Given the description of an element on the screen output the (x, y) to click on. 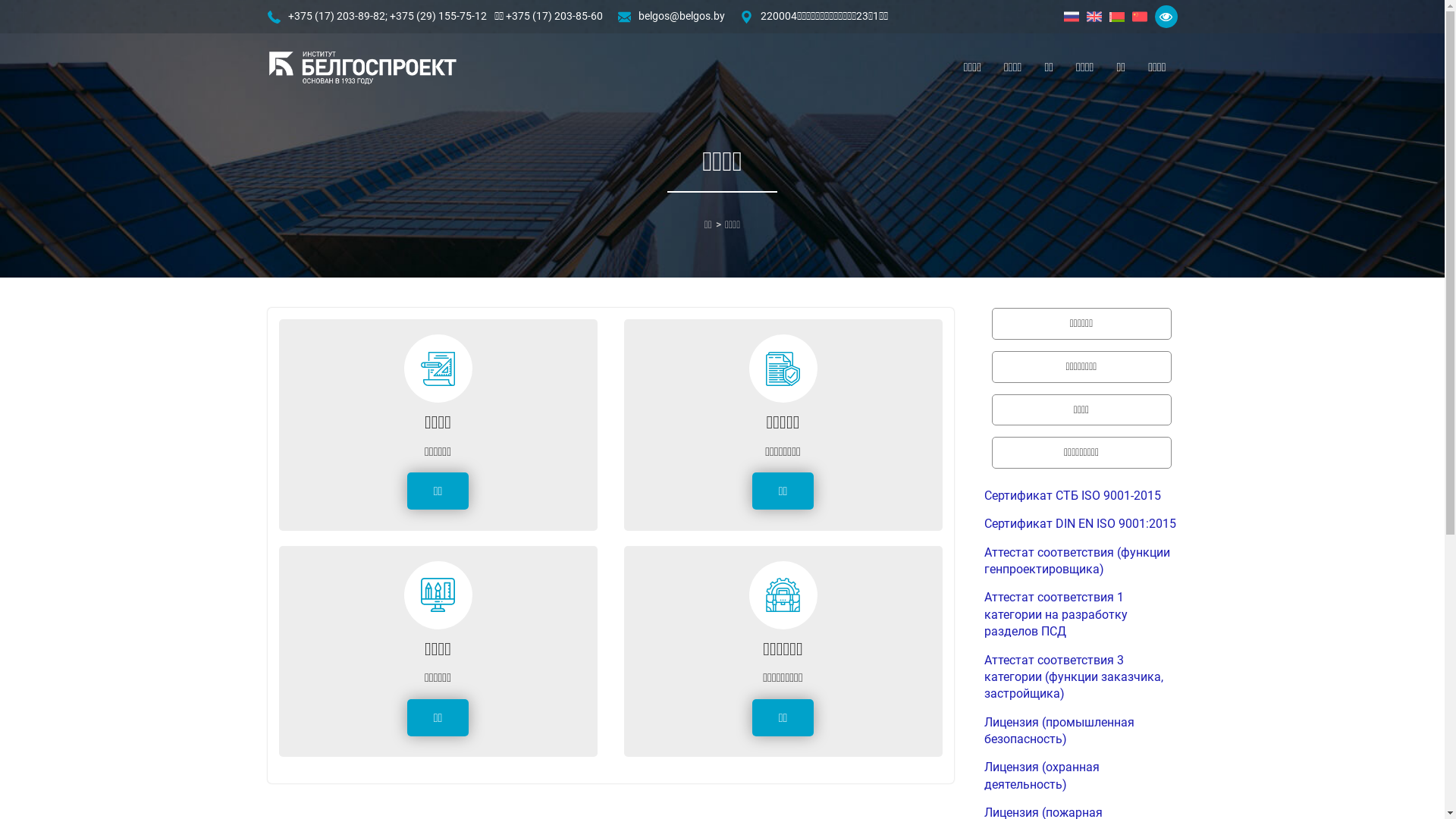
belgos@belgos.by Element type: text (681, 16)
+375 (17) 203-89-82; +375 (29) 155-75-12 Element type: text (387, 16)
